Given the description of an element on the screen output the (x, y) to click on. 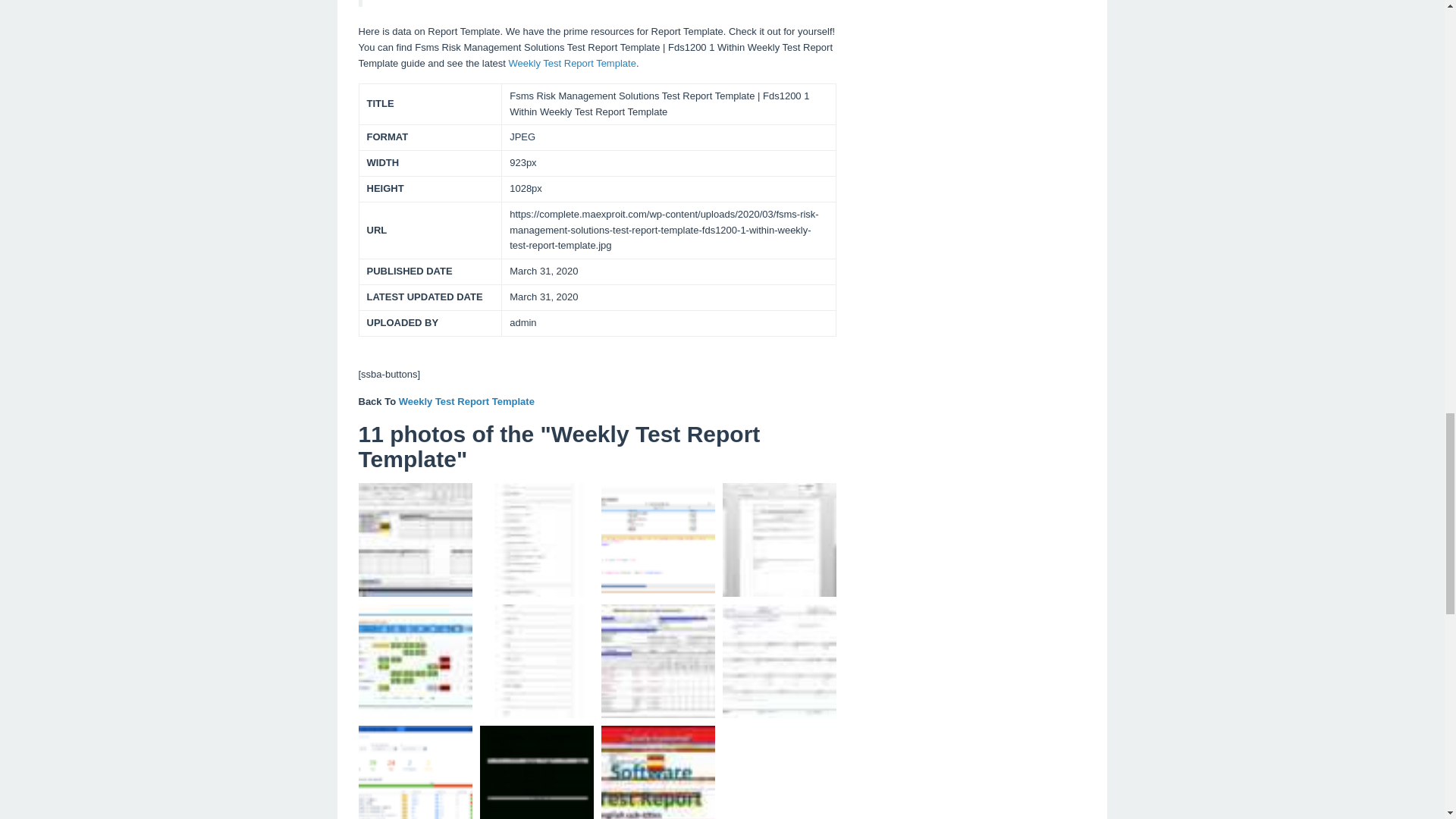
Weekly Test Report Template (466, 401)
Weekly Test Report Template (572, 62)
Weekly Test Report Template (466, 401)
